Given the description of an element on the screen output the (x, y) to click on. 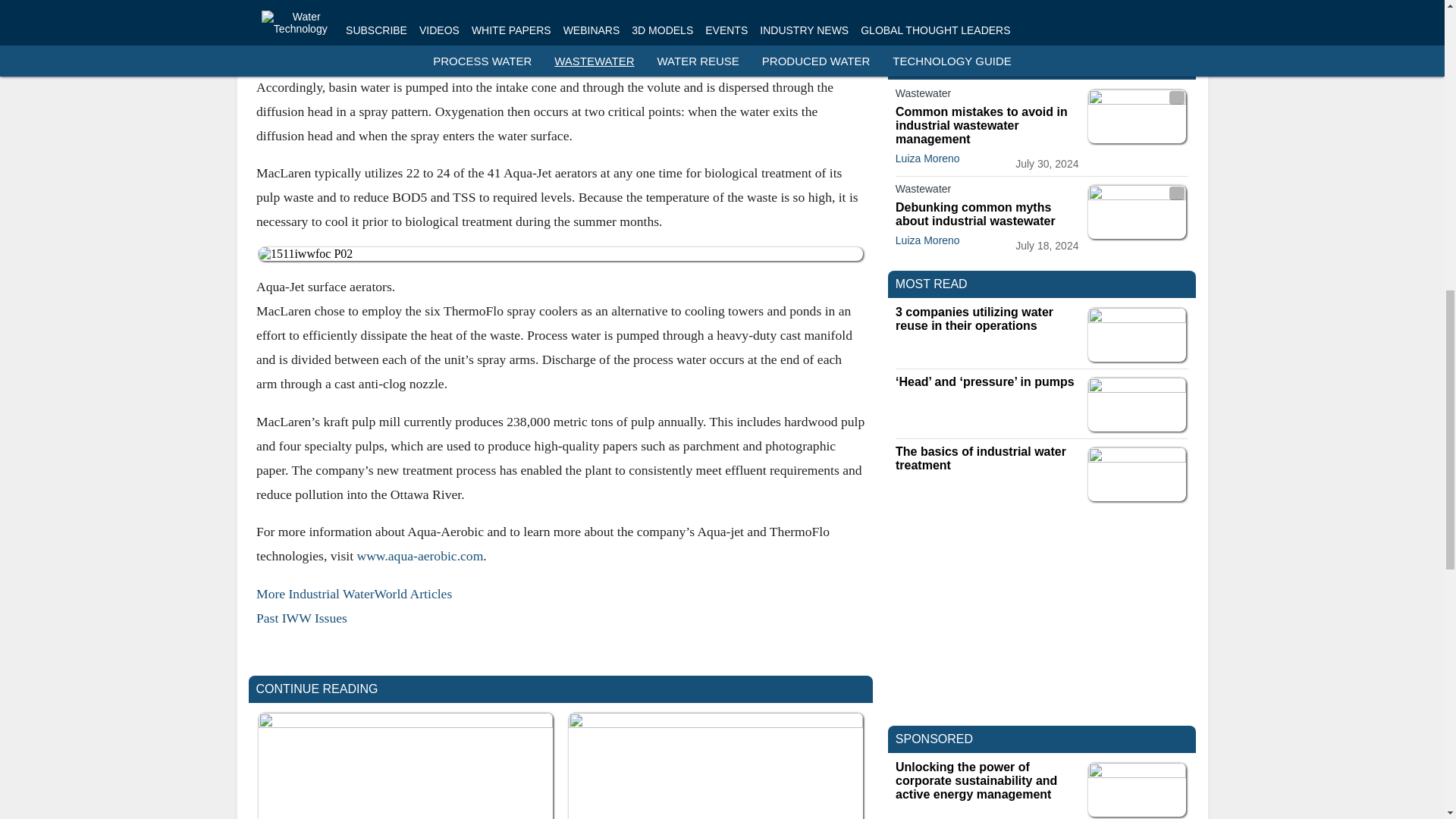
www.aqua-aerobic.com (419, 555)
Wastewater (986, 95)
Past IWW Issues (301, 616)
1511iwwfoc P02 (559, 254)
More Industrial WaterWorld Articles (353, 592)
LATEST IN WASTEWATER (969, 65)
